Given the description of an element on the screen output the (x, y) to click on. 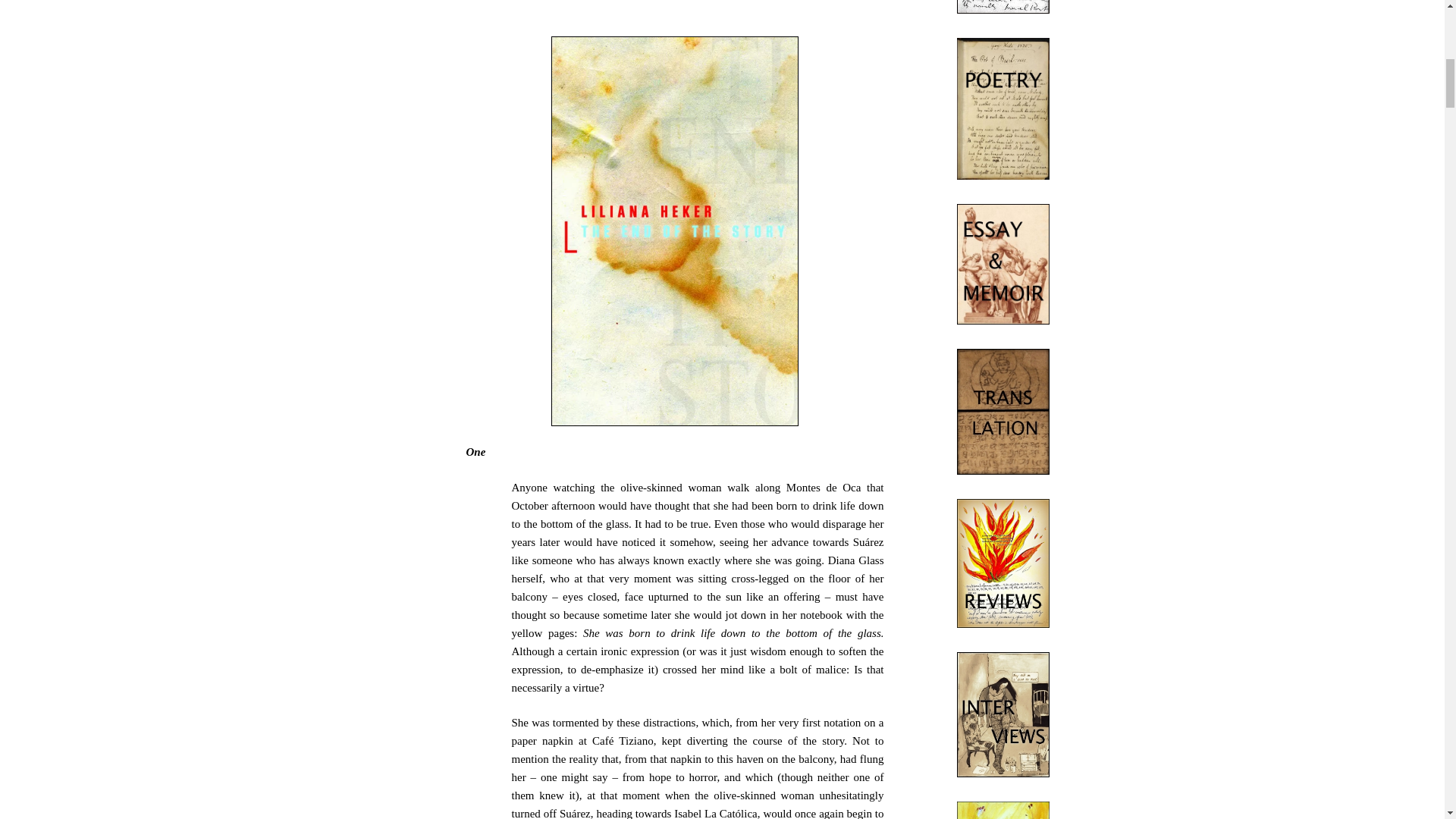
Liliana Heker The End of the Story (674, 230)
